Given the description of an element on the screen output the (x, y) to click on. 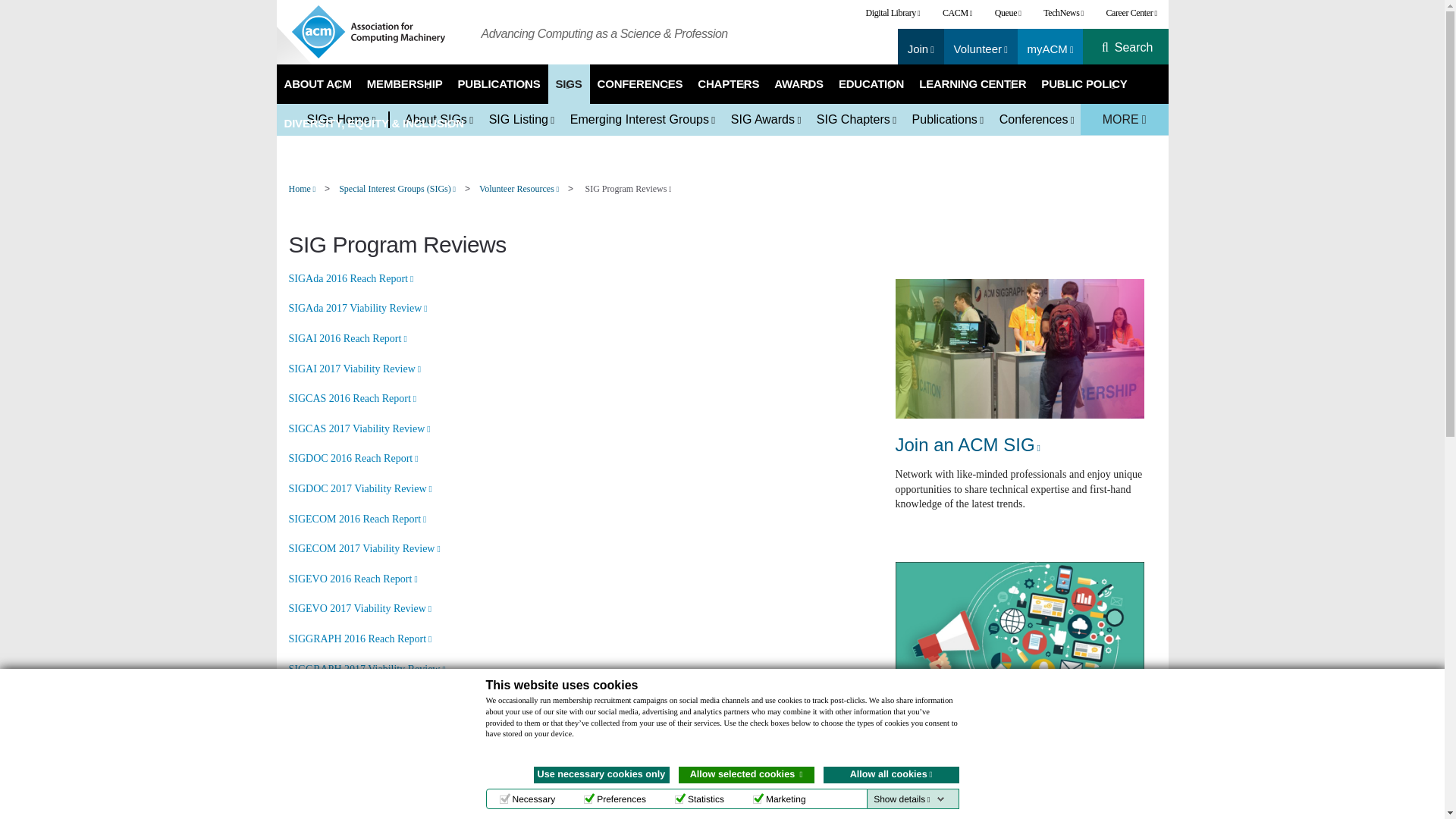
Allow all cookies (891, 774)
Search (1134, 47)
Allow selected cookies (745, 774)
Search (1134, 47)
Show details (908, 799)
Use necessary cookies only (601, 774)
